Given the description of an element on the screen output the (x, y) to click on. 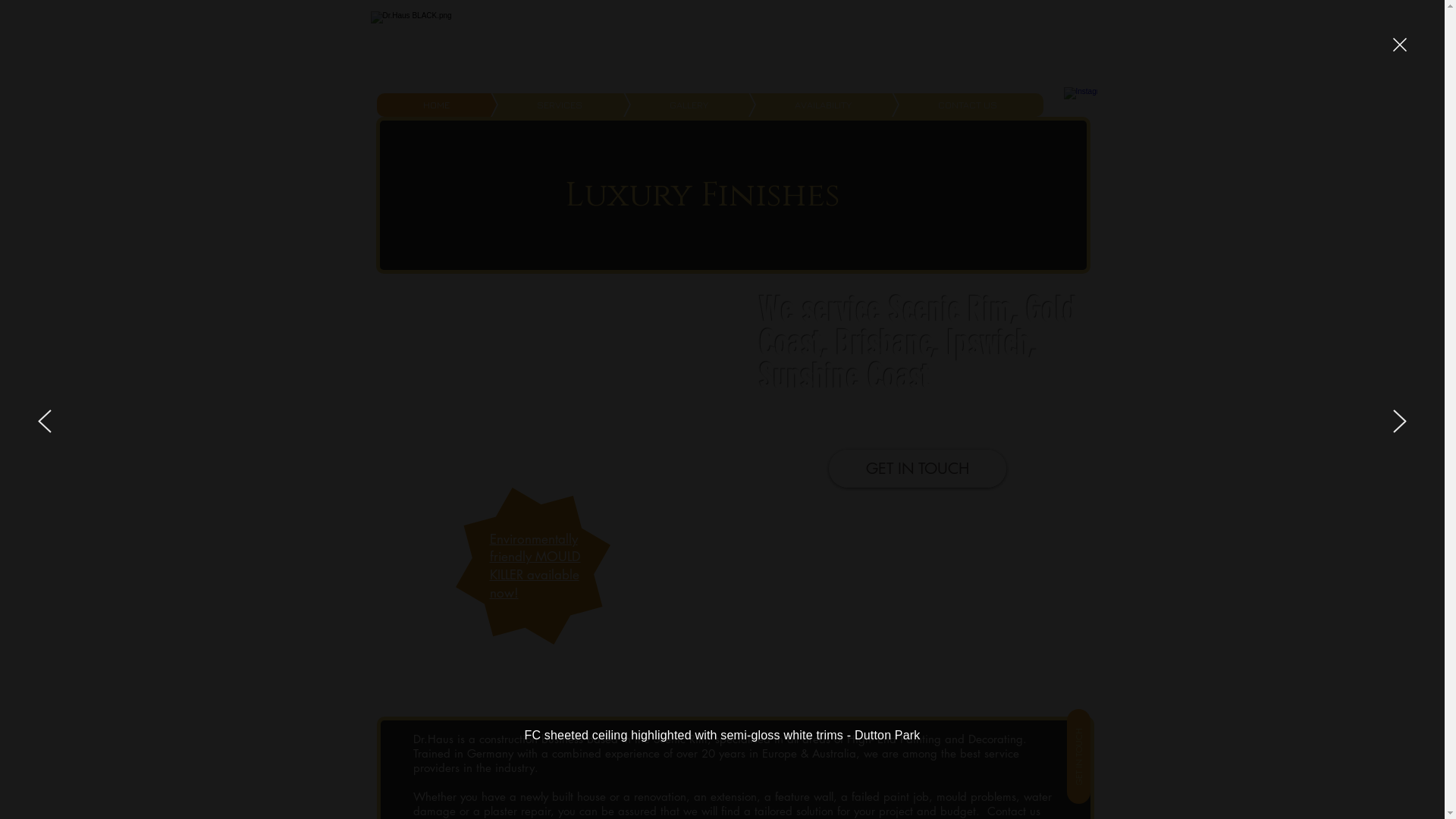
GET IN TOUCH Element type: text (916, 468)
HOME Element type: text (435, 104)
GET IN TOUCH Element type: text (1113, 720)
GALLERY Element type: text (665, 104)
AVAILABILITY Element type: text (799, 104)
SERVICES Element type: text (536, 104)
Environmentally friendly MOULD KILLER available now! Element type: text (534, 565)
CONTACT US Element type: text (944, 104)
